Given the description of an element on the screen output the (x, y) to click on. 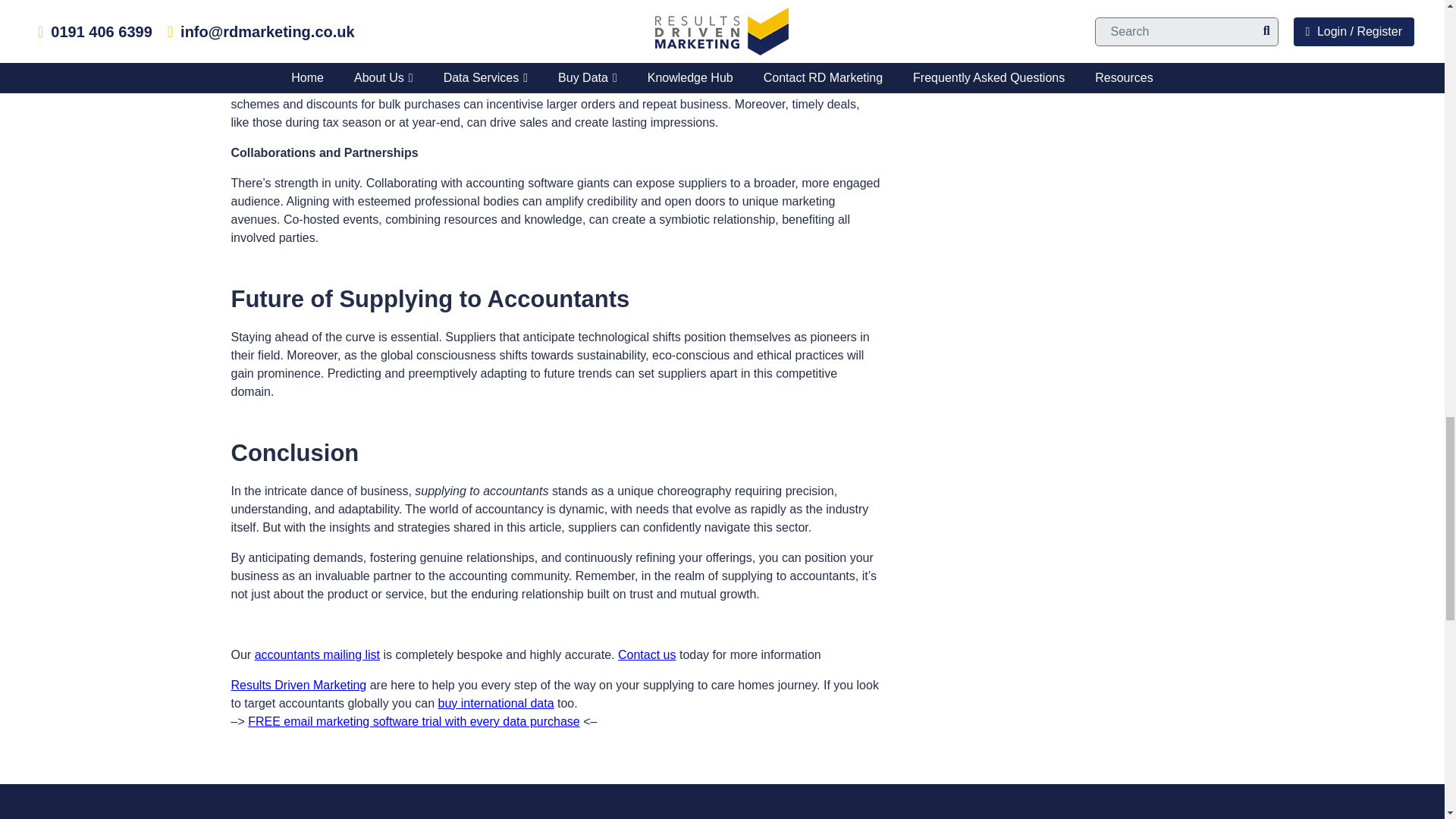
FREE email marketing software trial with every data purchase (413, 721)
accountants mailing list (317, 654)
Results Driven Marketing (298, 684)
buy international data (496, 703)
Contact us (646, 654)
